Given the description of an element on the screen output the (x, y) to click on. 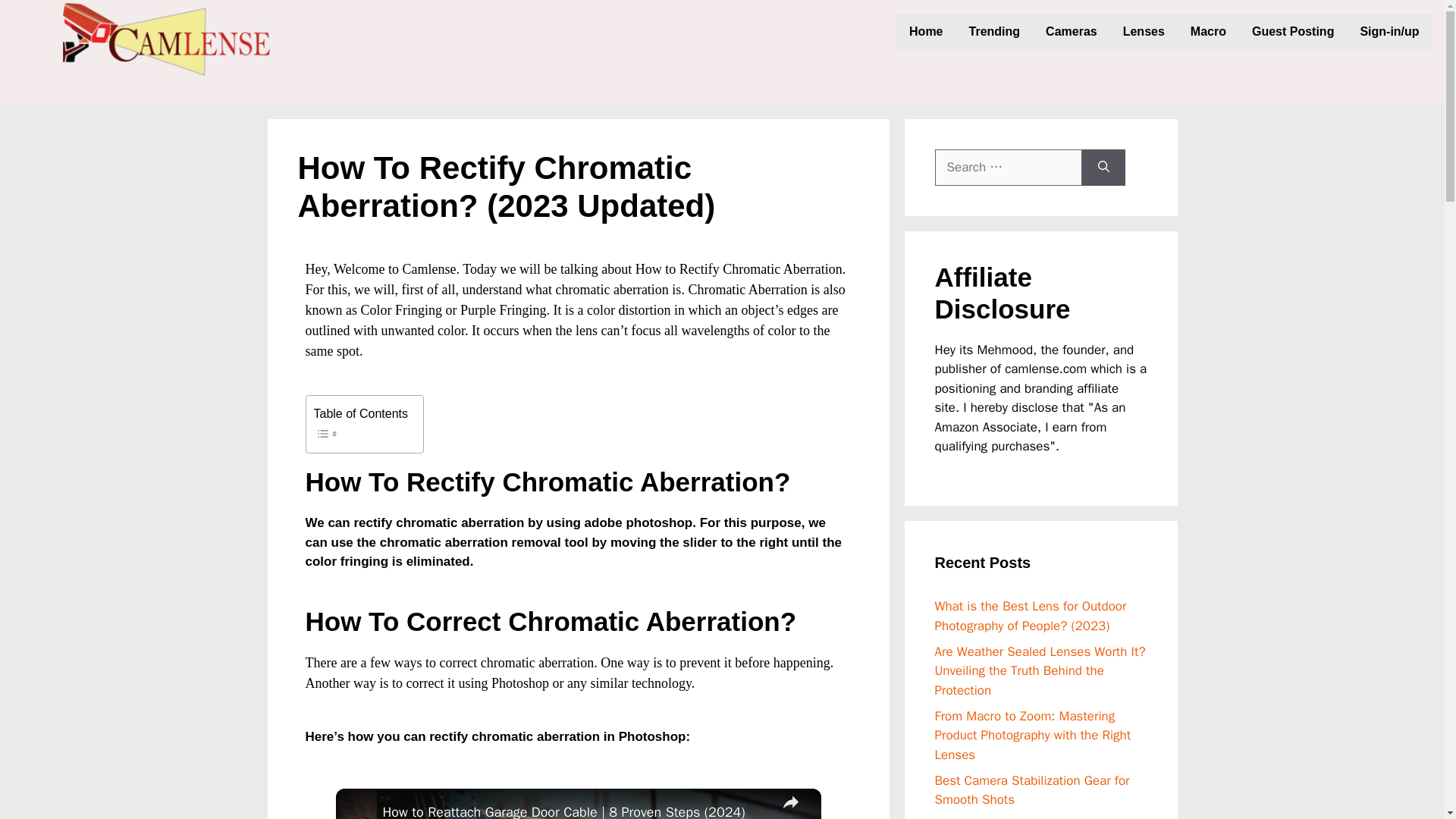
Search for: (1007, 167)
Macro (1208, 31)
Guest Posting (1292, 31)
Home (925, 31)
share (789, 803)
Share (789, 803)
Lenses (1143, 31)
Trending (994, 31)
